Given the description of an element on the screen output the (x, y) to click on. 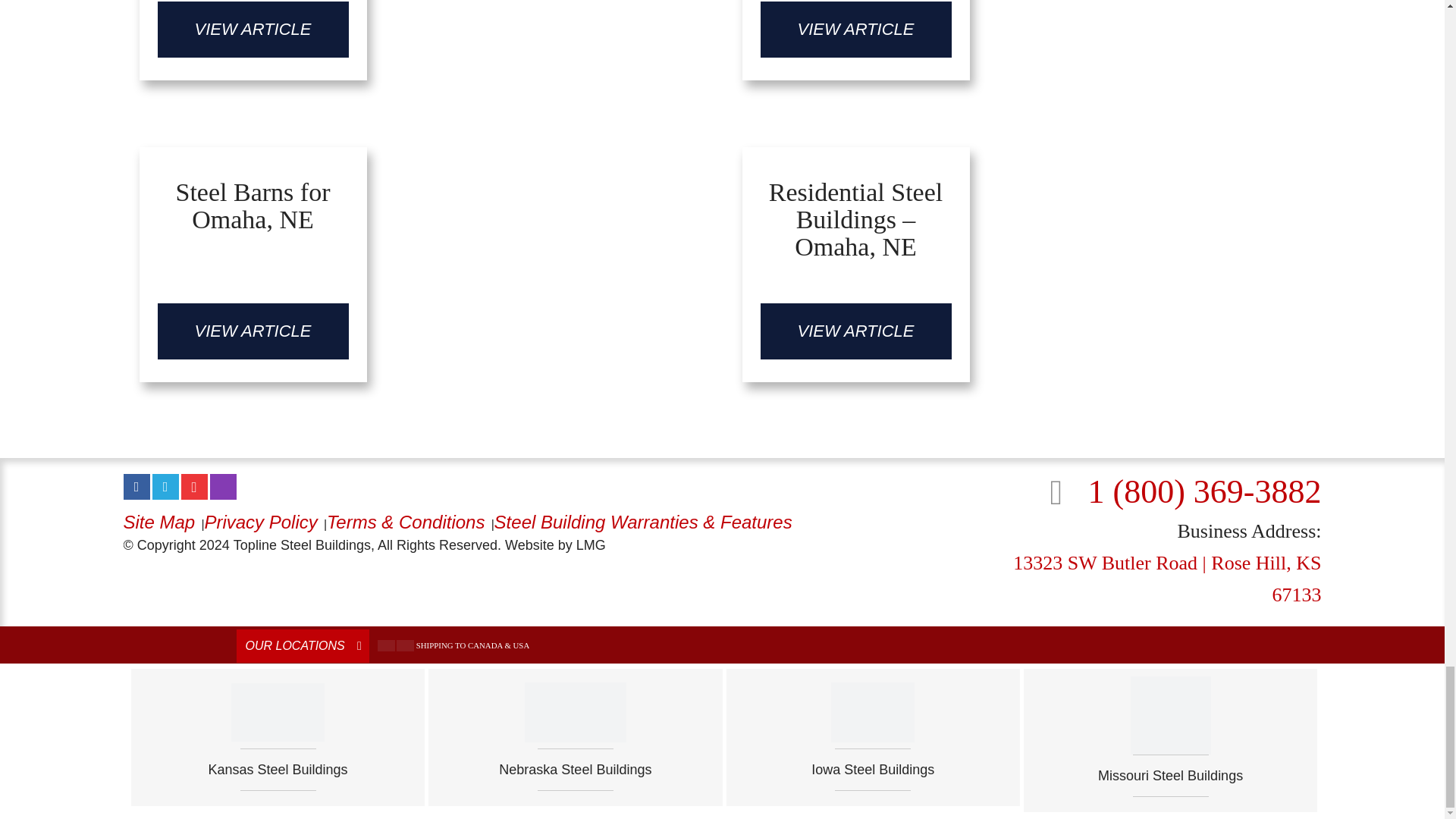
Commercial Steel Building Solutions in Omaha, NE (1024, 49)
VIEW ARTICLE (253, 29)
VIEW ARTICLE (855, 29)
Sporting Facilities in Omaha, NE (253, 29)
Steel Barns for Omaha, NE (252, 211)
Steel Barns for Omaha, NE (253, 331)
VIEW ARTICLE (253, 331)
Steel Barns for Omaha, NE (252, 211)
VIEW ARTICLE (855, 331)
Sporting Facilities in Omaha, NE (419, 49)
Commercial Steel Building Solutions in Omaha, NE (855, 29)
